Given the description of an element on the screen output the (x, y) to click on. 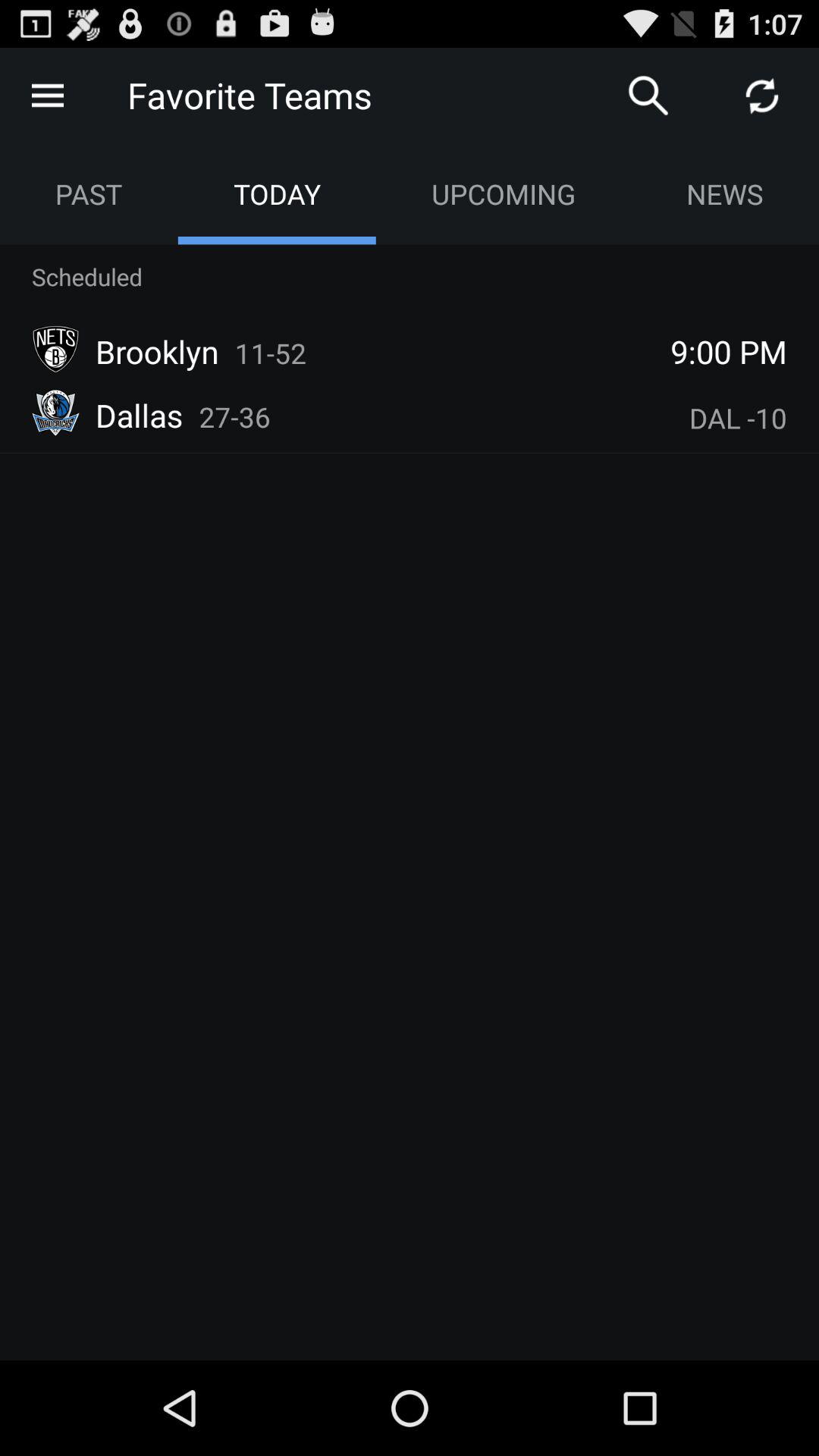
tap the item next to the today item (89, 193)
